Given the description of an element on the screen output the (x, y) to click on. 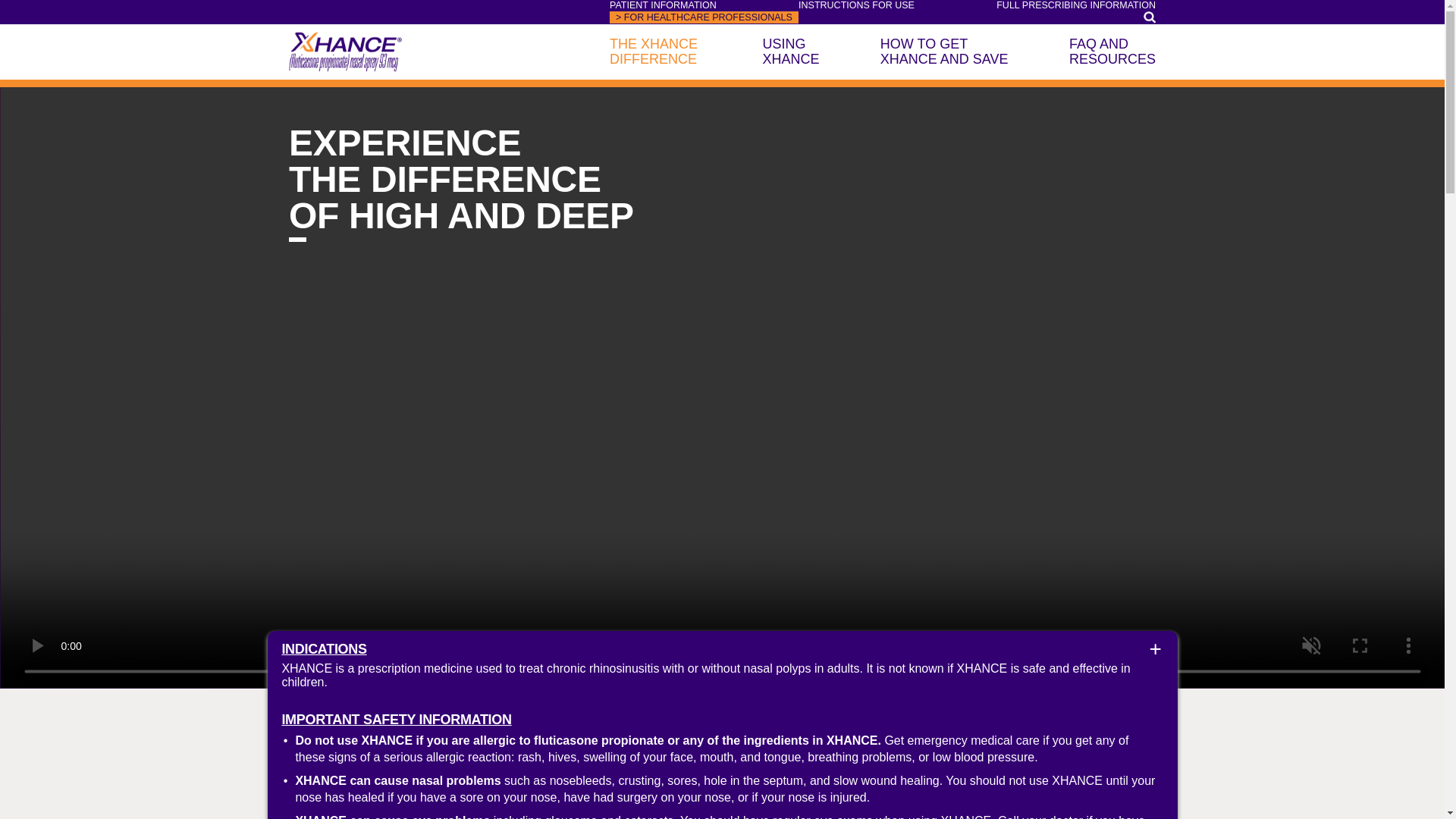
Search (1149, 17)
